Given the description of an element on the screen output the (x, y) to click on. 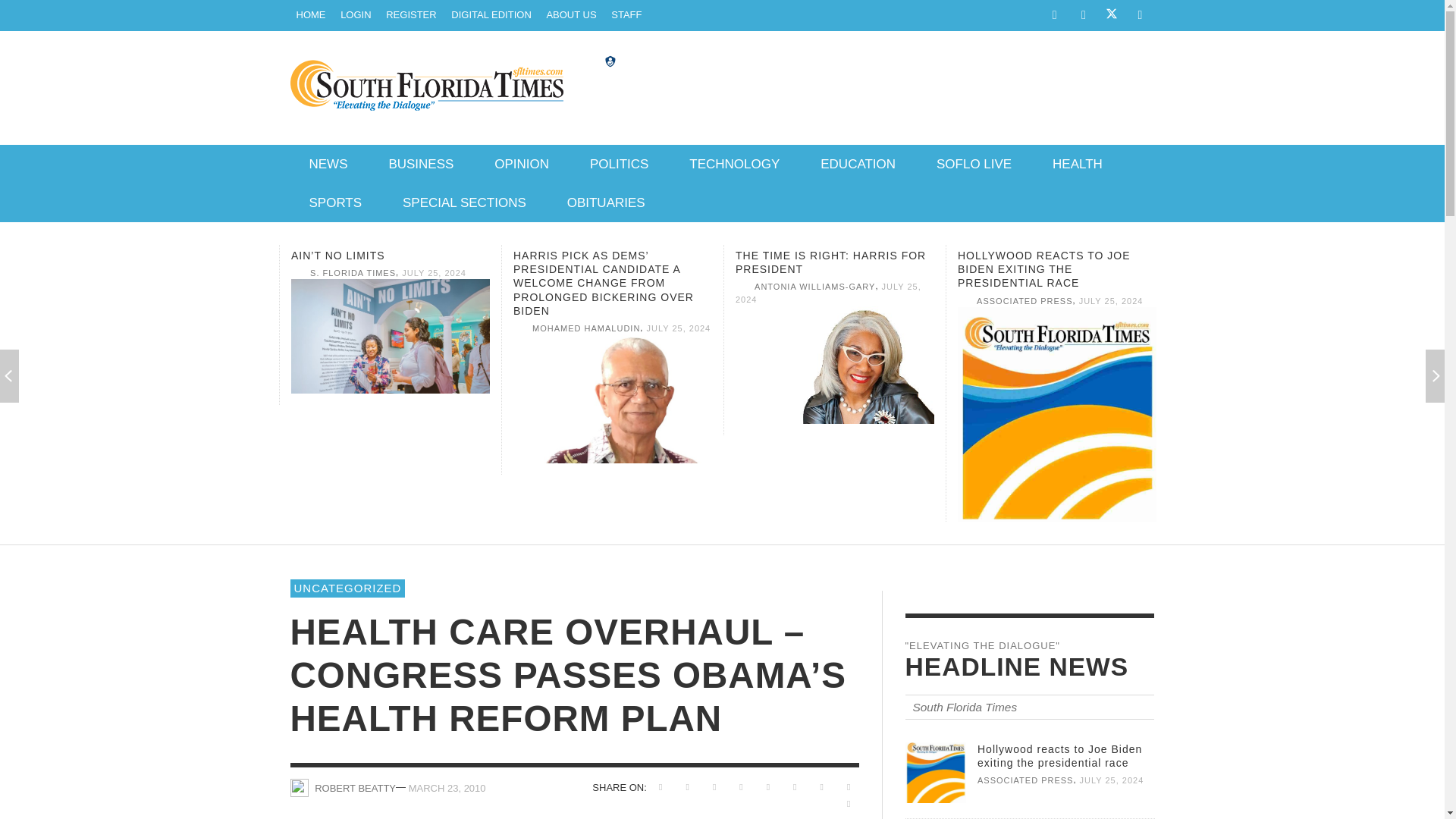
Facebook (1053, 15)
Instagram (1082, 15)
South Florida Times (310, 15)
Twitter (1111, 15)
Digital Edition (491, 15)
Privacy Notification (609, 61)
